Given the description of an element on the screen output the (x, y) to click on. 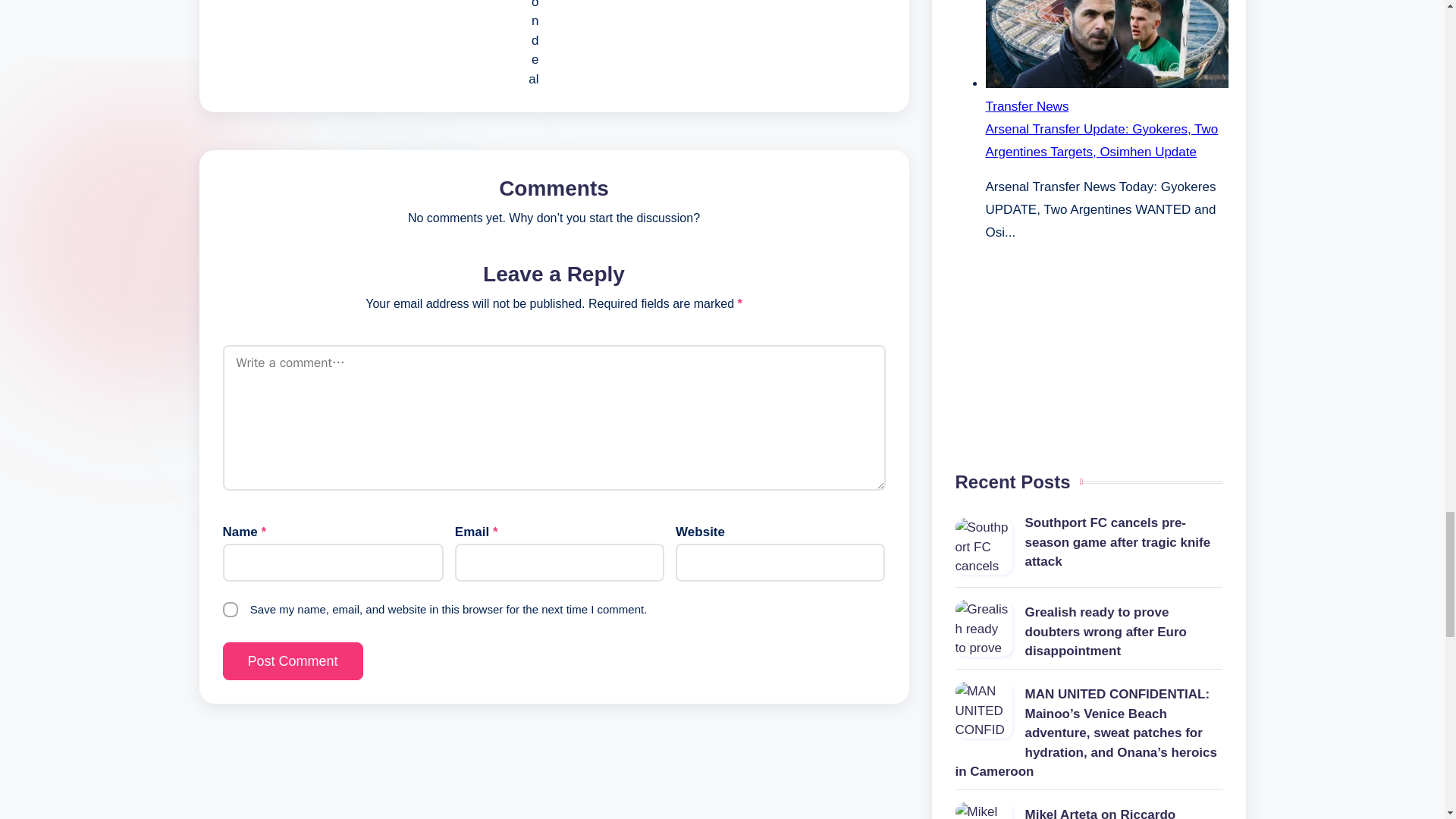
Post Comment (292, 661)
yes (230, 609)
Post Comment (292, 661)
